Given the description of an element on the screen output the (x, y) to click on. 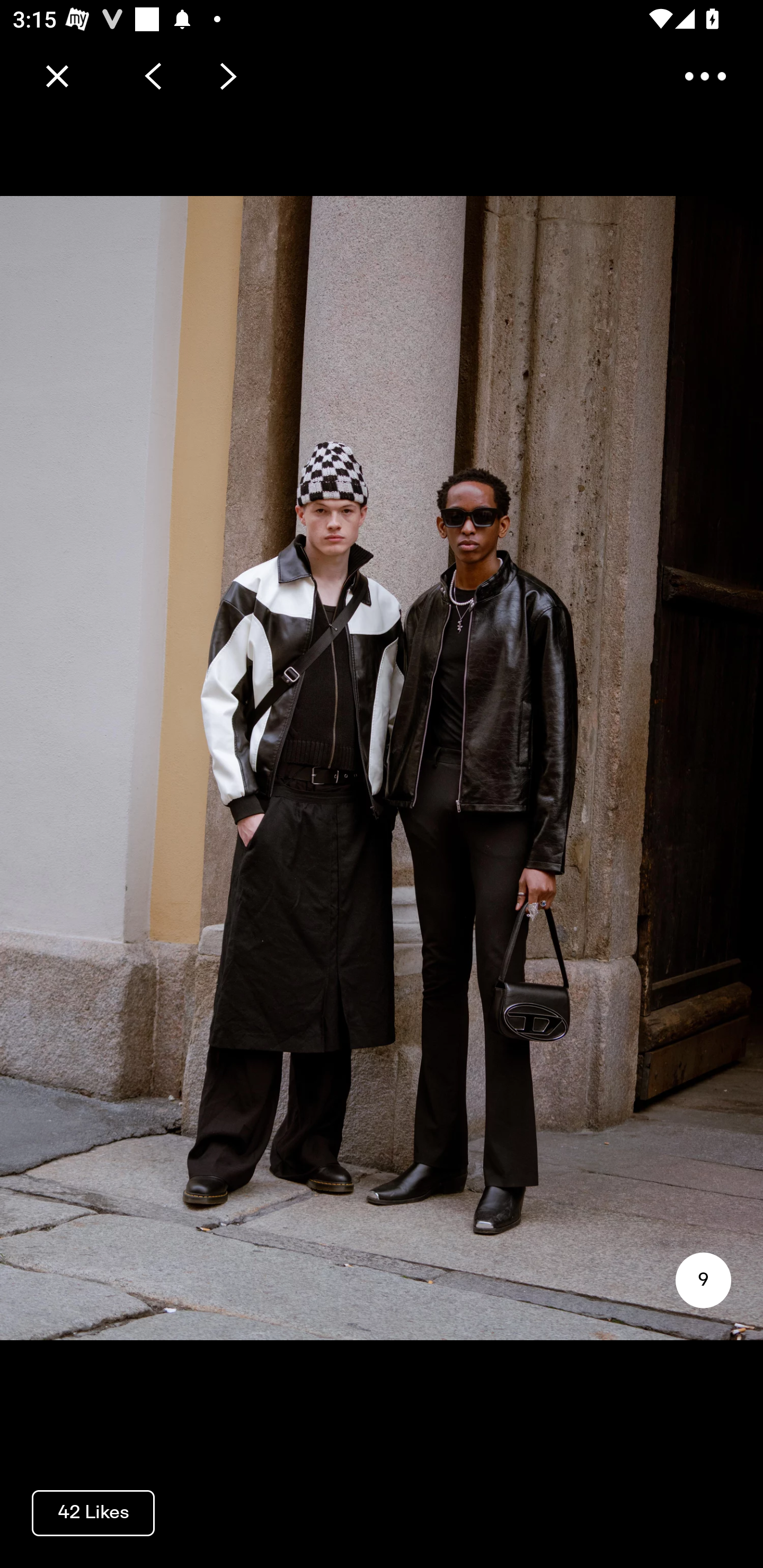
9 (702, 1279)
42 Likes (93, 1512)
